Given the description of an element on the screen output the (x, y) to click on. 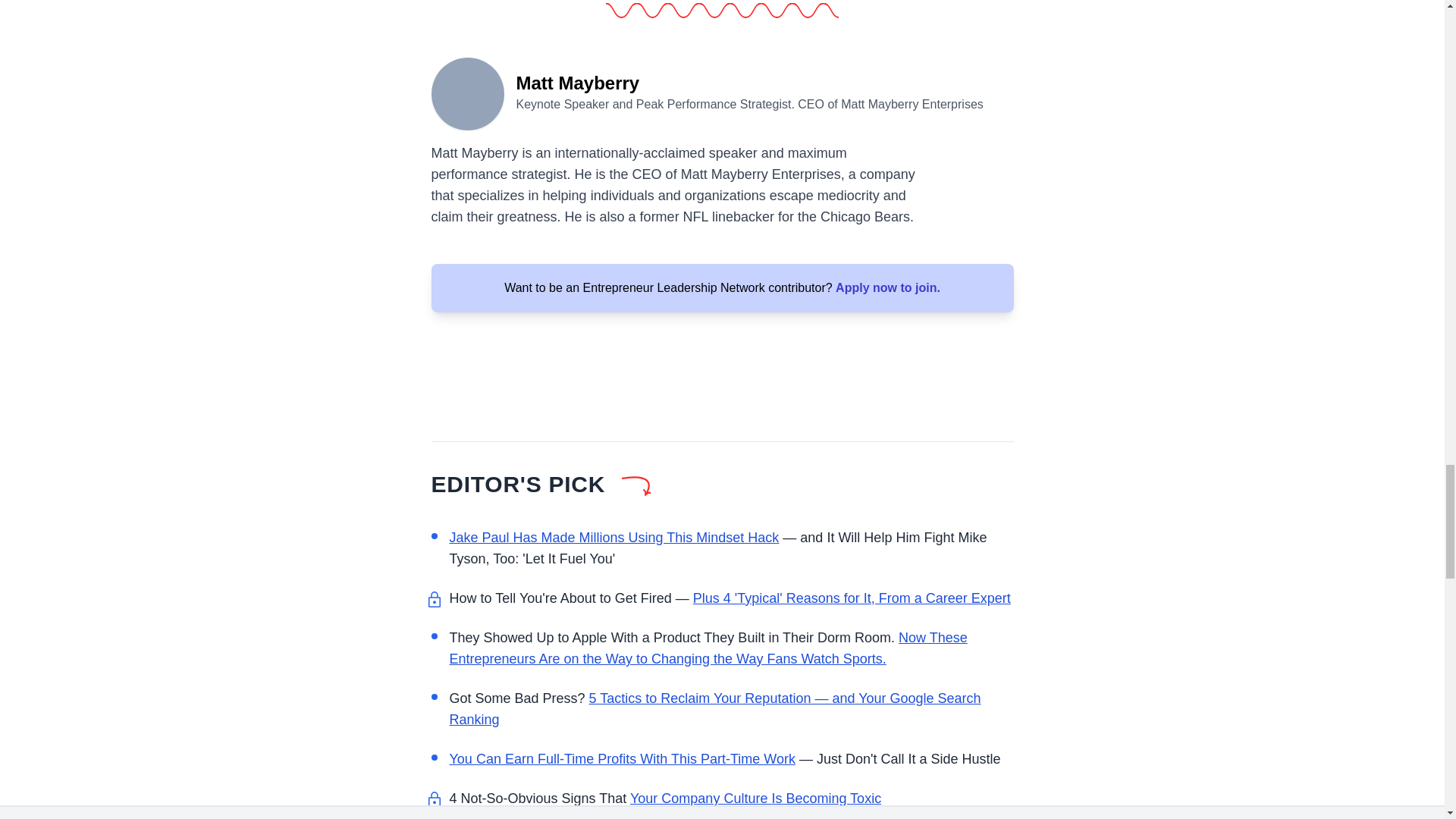
Matt Mayberry (466, 92)
